Given the description of an element on the screen output the (x, y) to click on. 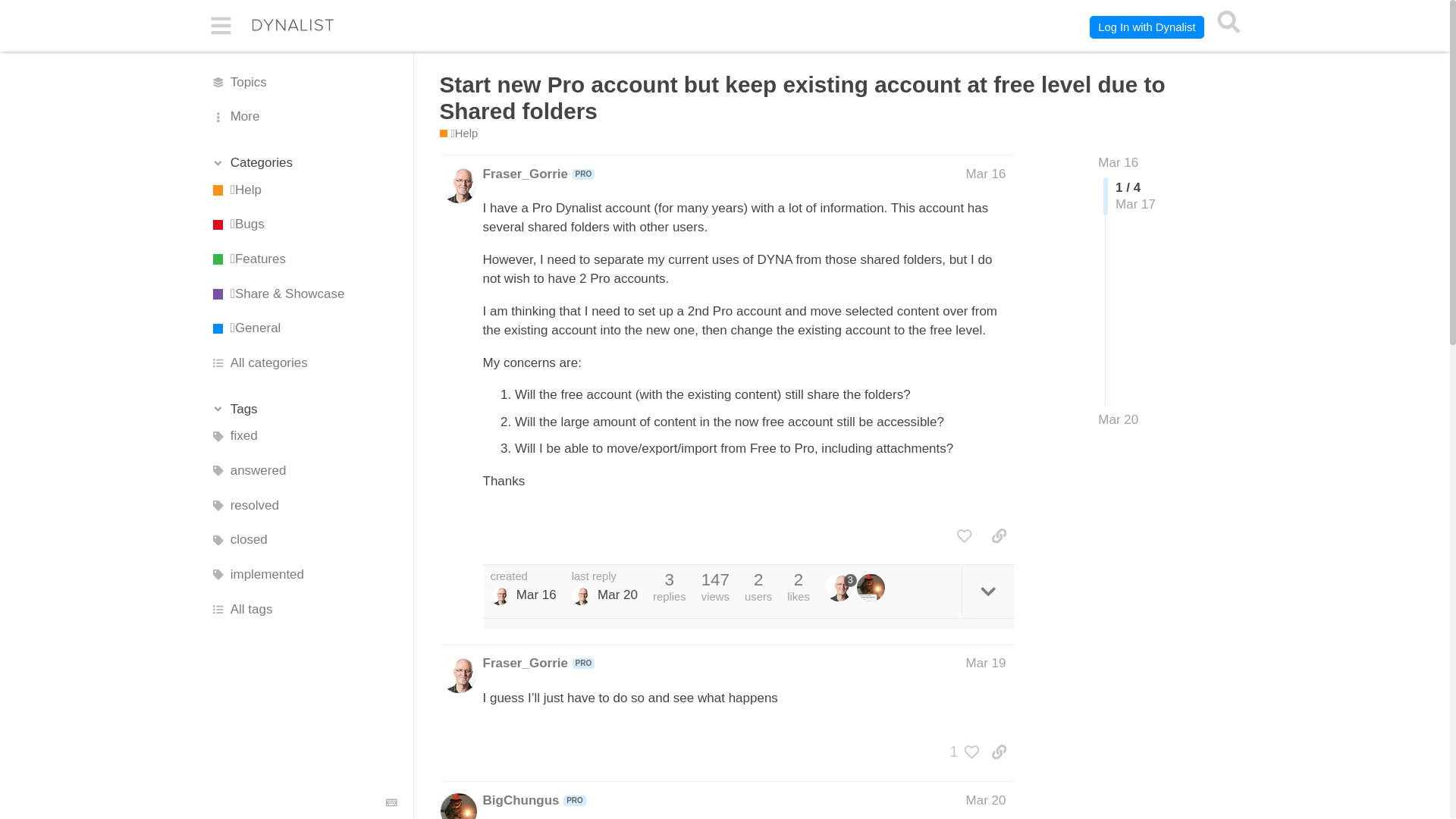
Talk about everything else here. (302, 329)
last reply (604, 576)
resolved (302, 505)
Looking for help? Ask here. (459, 133)
More (302, 117)
Log In (1146, 26)
closed (302, 540)
Keyboard Shortcuts (392, 802)
Tags (303, 409)
Mar 16 (986, 173)
fixed (302, 436)
All tags (302, 609)
Sidebar (220, 25)
Suggest and talk about yet-to-be-implemented features here. (302, 258)
Topics (302, 82)
